Given the description of an element on the screen output the (x, y) to click on. 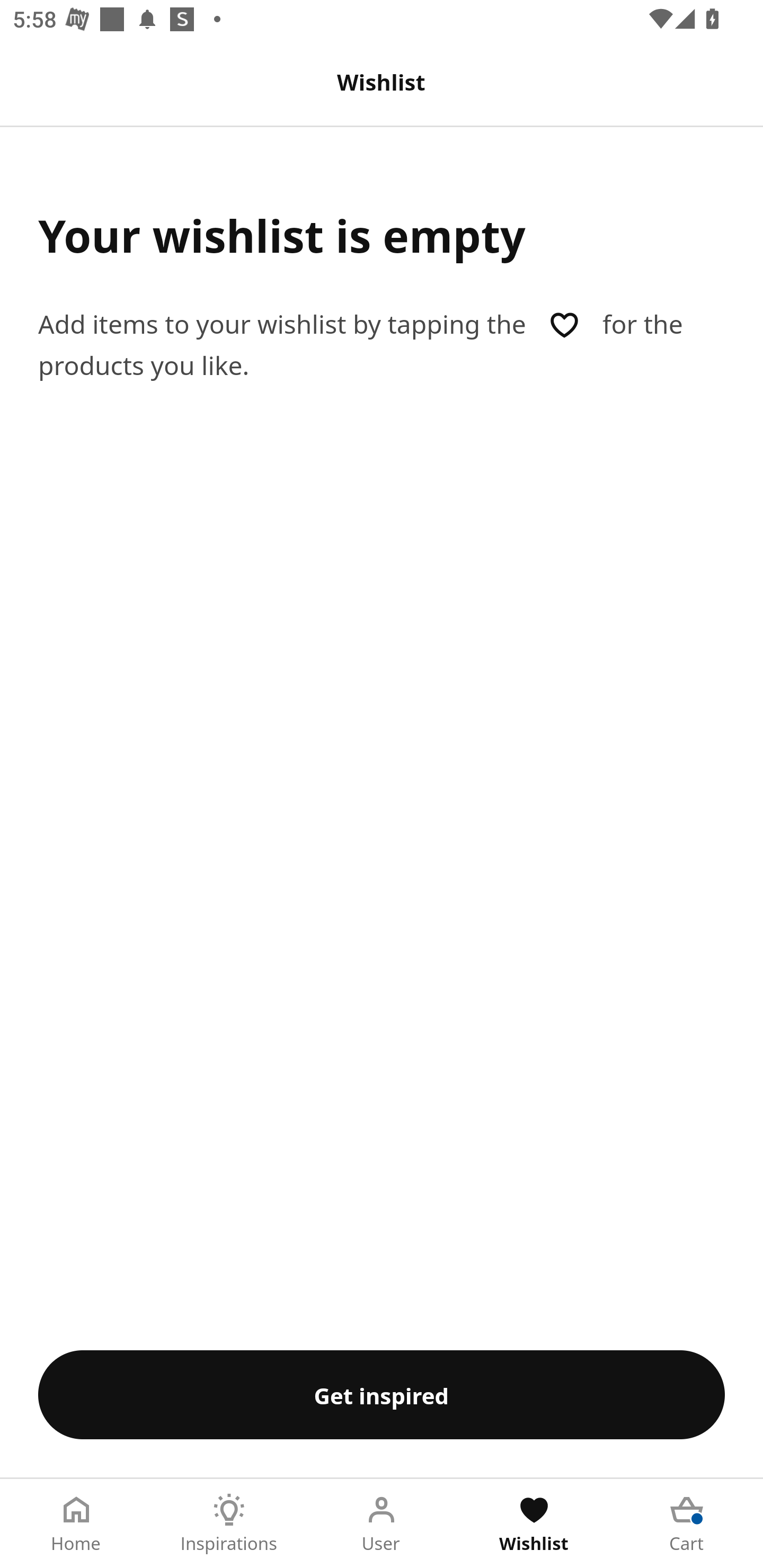
Get inspired (381, 1394)
Home
Tab 1 of 5 (76, 1522)
Inspirations
Tab 2 of 5 (228, 1522)
User
Tab 3 of 5 (381, 1522)
Wishlist
Tab 4 of 5 (533, 1522)
Cart
Tab 5 of 5 (686, 1522)
